Given the description of an element on the screen output the (x, y) to click on. 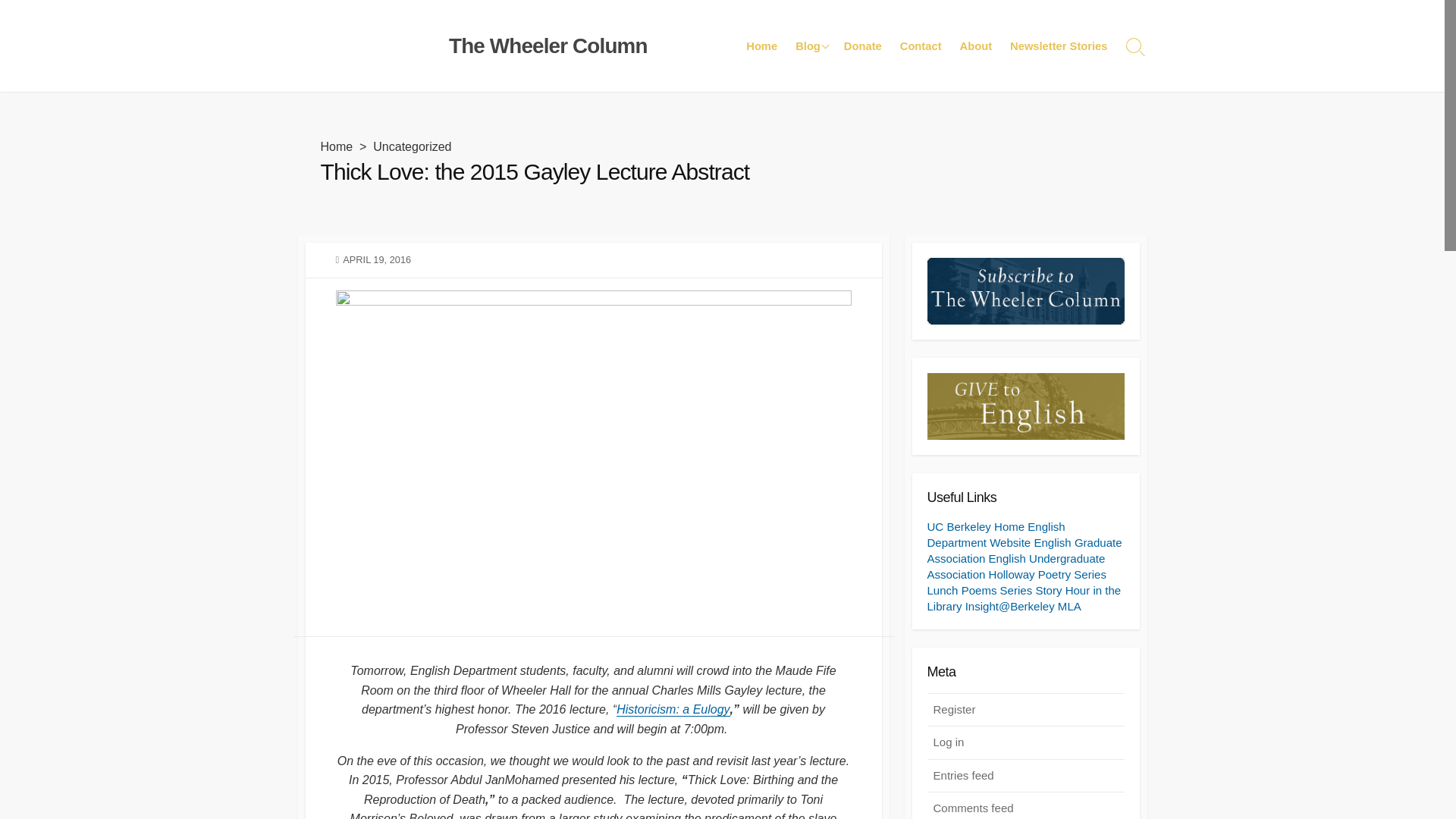
Donate (862, 46)
English Department Website (995, 534)
Interviews (861, 155)
Blog (810, 46)
Lunch Poems Series (979, 590)
Story Hour in the Library (1023, 597)
General (861, 73)
English Undergraduate Association (1015, 566)
Prizes (861, 125)
Event Recaps (861, 46)
Home (336, 146)
MLA (1069, 605)
Home (761, 46)
Holloway Poetry Series (1047, 574)
On the Scene (861, 98)
